Given the description of an element on the screen output the (x, y) to click on. 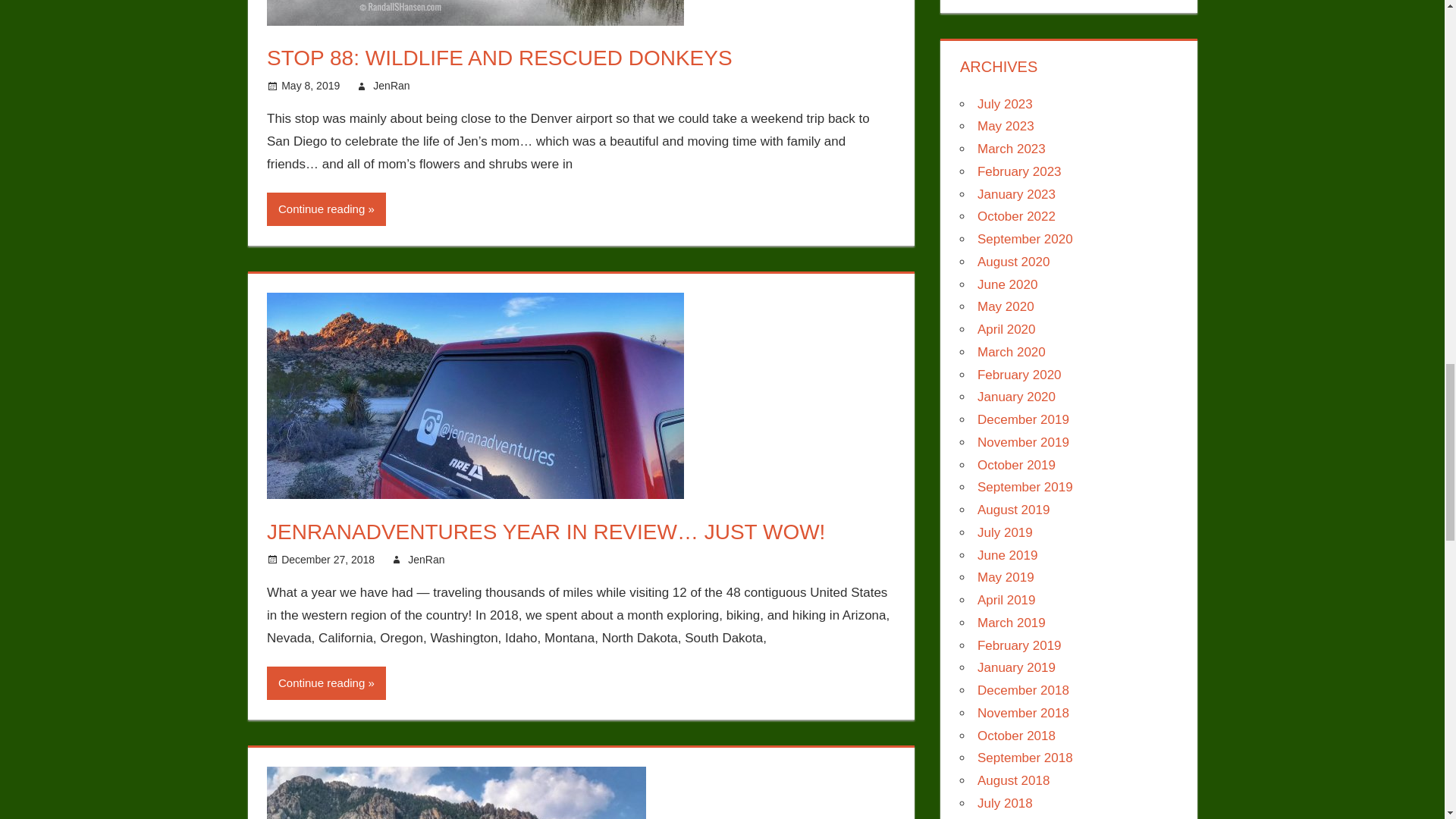
View all posts by JenRan (425, 559)
JenRan (390, 85)
2:16 pm (310, 85)
JenRan (425, 559)
View all posts by JenRan (390, 85)
STOP 88: WILDLIFE AND RESCUED DONKEYS (499, 57)
December 27, 2018 (327, 559)
Uncategorized (478, 85)
Uncategorized (513, 559)
May 8, 2019 (310, 85)
Leave a comment (520, 559)
Leave a comment (485, 85)
3:55 pm (327, 559)
